Given the description of an element on the screen output the (x, y) to click on. 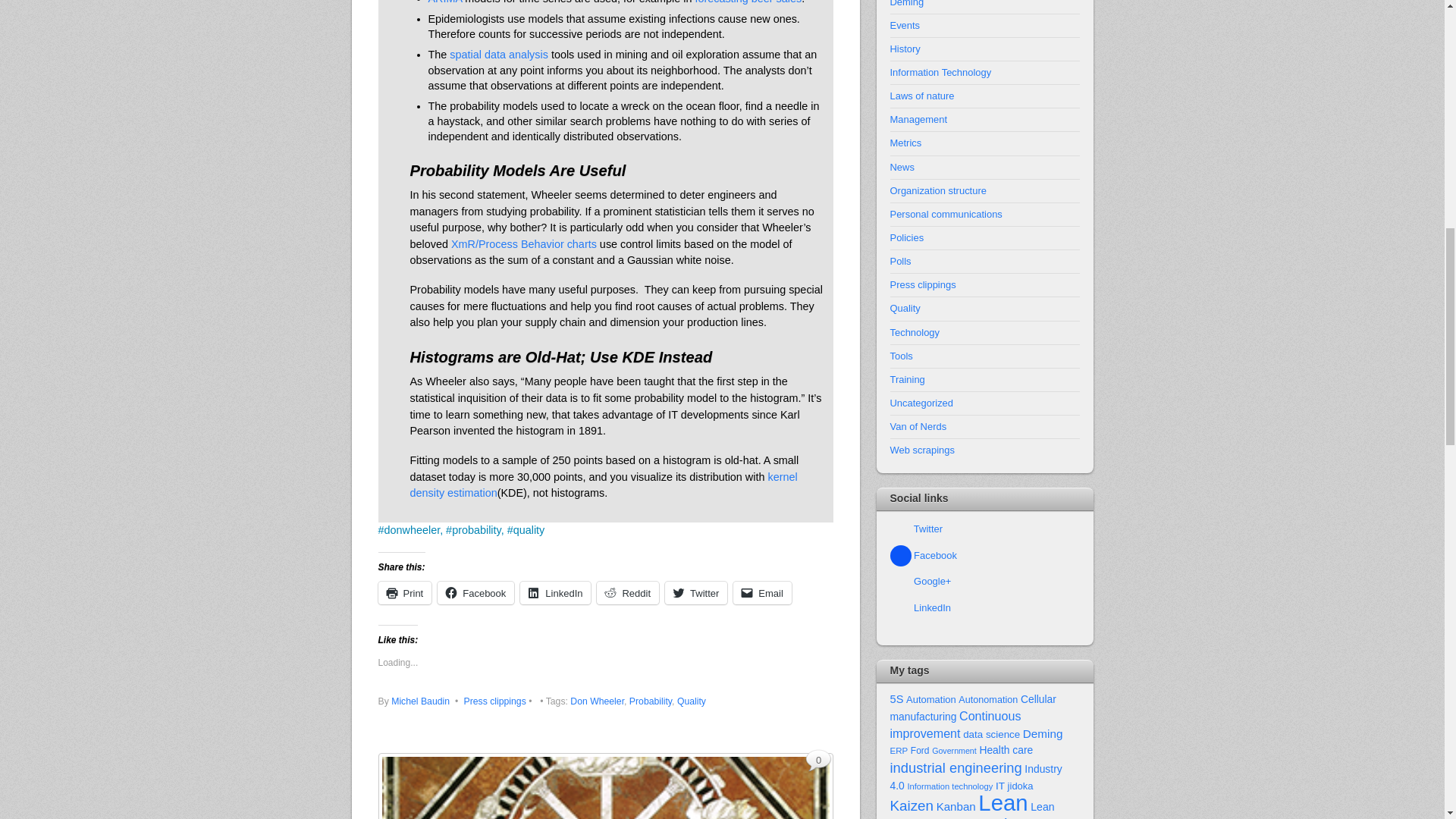
Press clippings (494, 701)
forecasting beer sales (748, 2)
ARIMA (444, 2)
Click to share on Twitter (695, 592)
Click to print (403, 592)
kernel density estimation (602, 484)
quality (528, 530)
probability, (477, 530)
Print (403, 592)
Click to share on Reddit (627, 592)
